Given the description of an element on the screen output the (x, y) to click on. 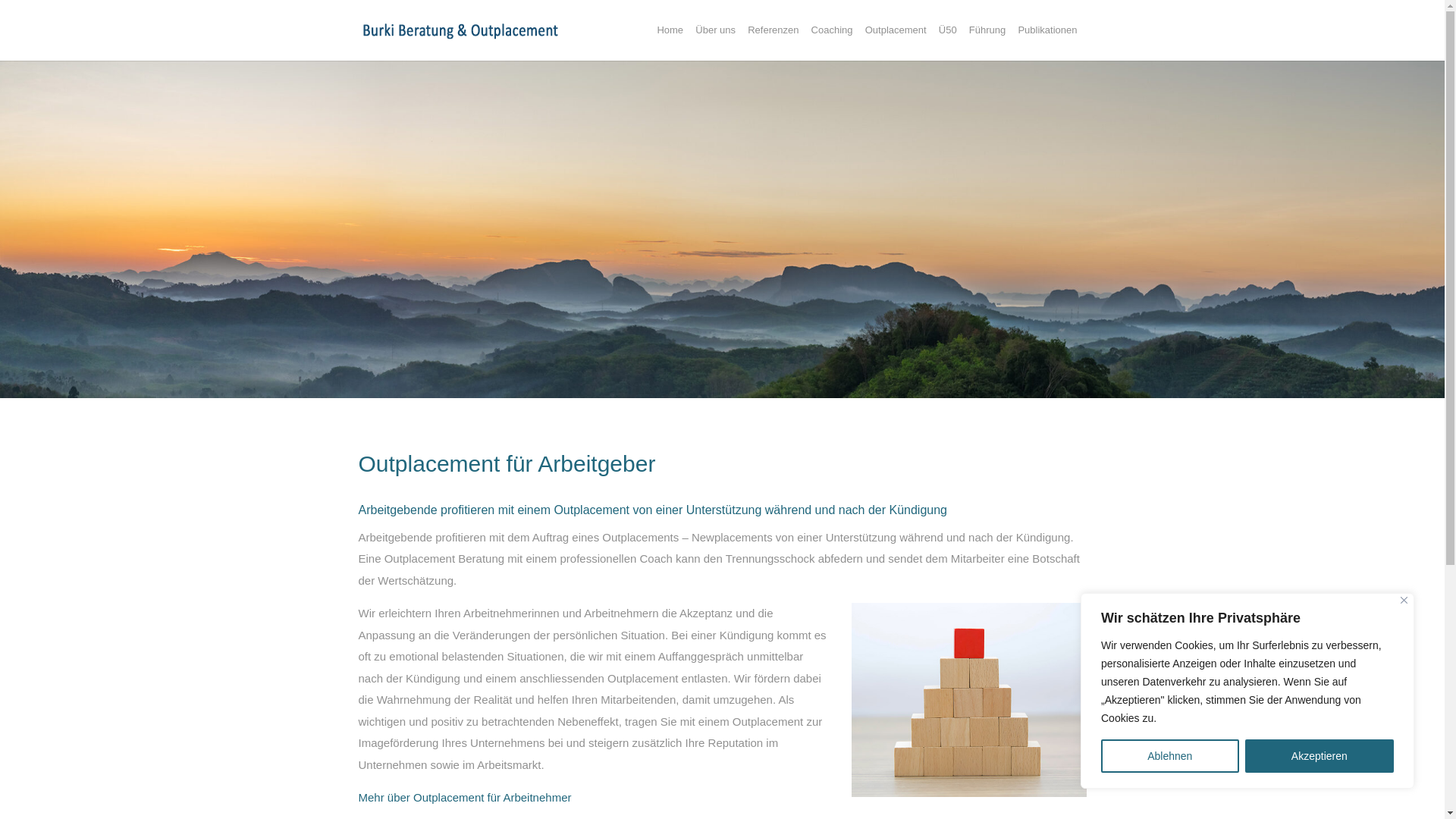
Ablehnen Element type: text (1170, 755)
Akzeptieren Element type: text (1319, 755)
Outplacement Element type: text (895, 42)
Coaching Element type: text (832, 42)
Referenzen Element type: text (772, 42)
Panorama Mountain view Element type: hover (722, 229)
Home Element type: text (669, 42)
Publikationen Element type: text (1046, 42)
